Given the description of an element on the screen output the (x, y) to click on. 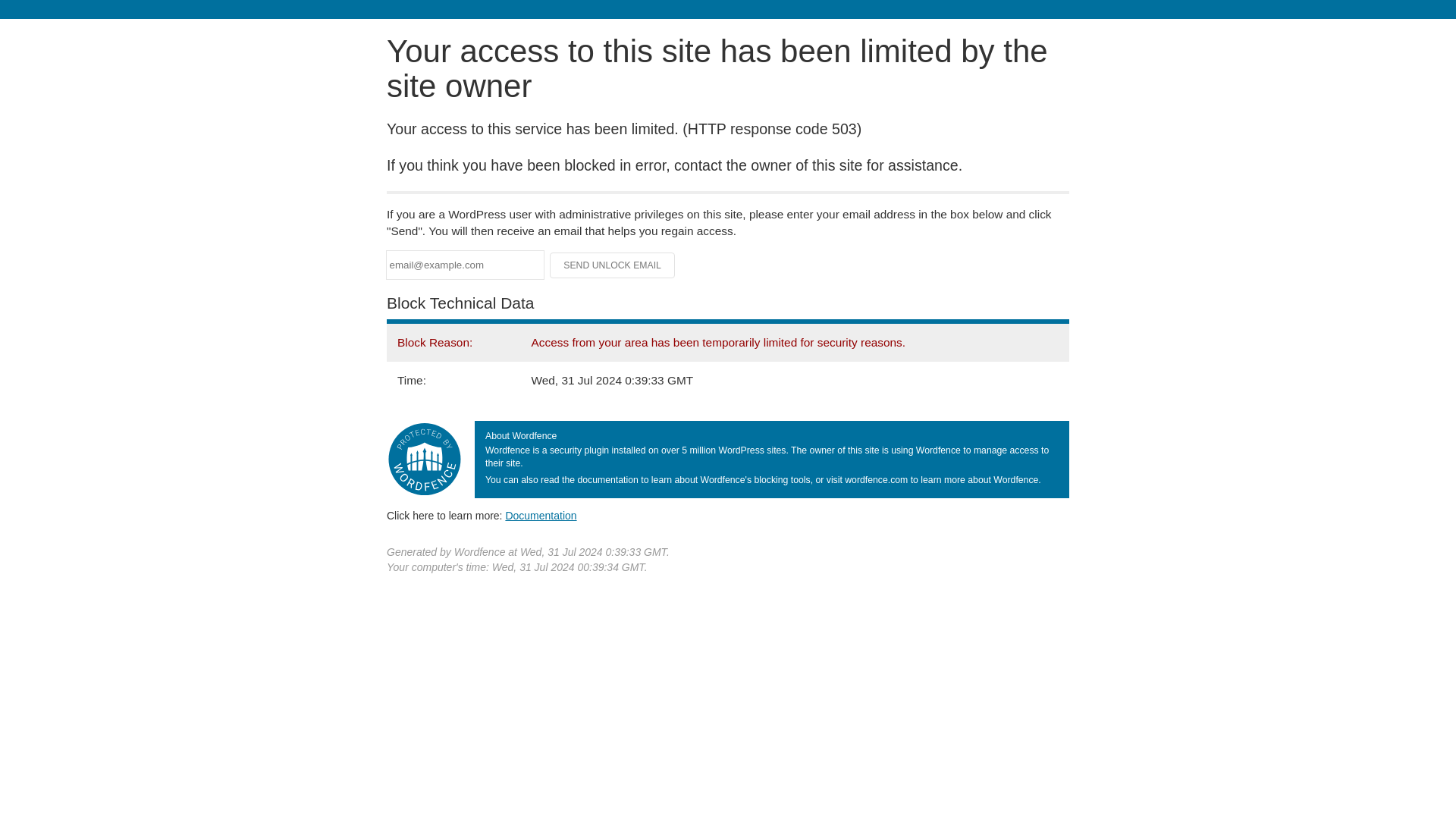
Send Unlock Email (612, 265)
Documentation (540, 515)
Send Unlock Email (612, 265)
